Given the description of an element on the screen output the (x, y) to click on. 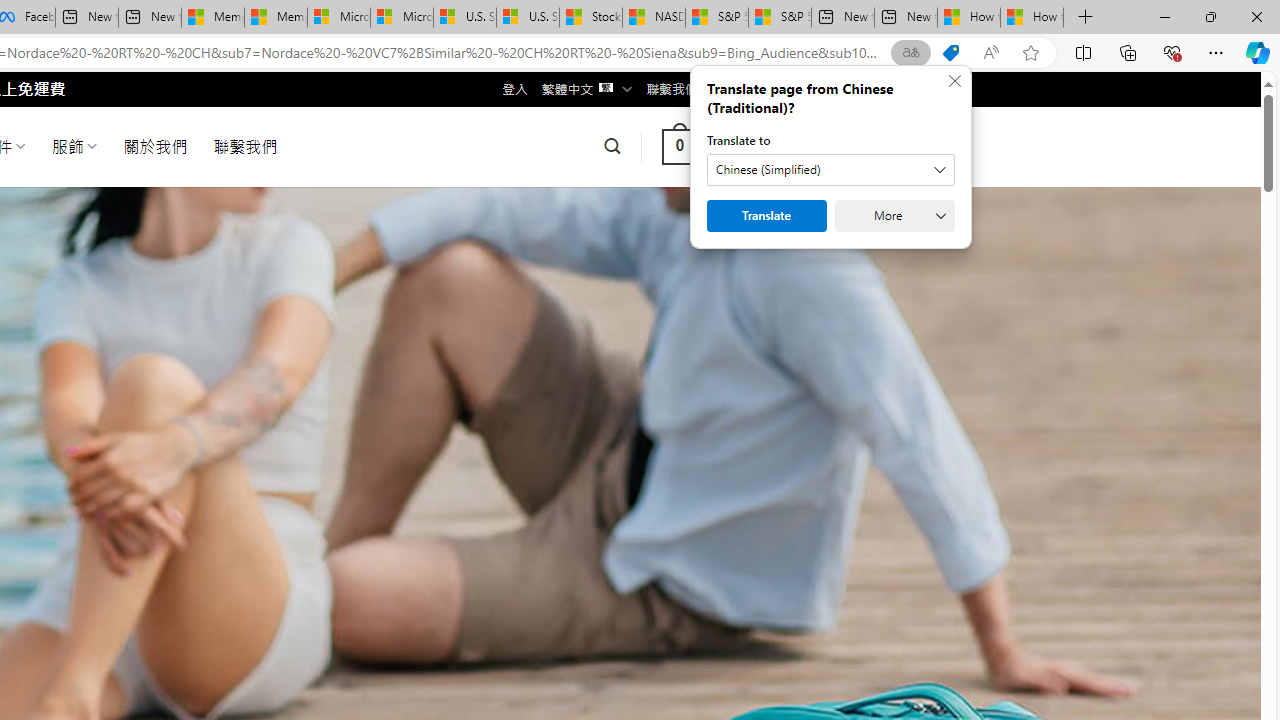
Read aloud this page (Ctrl+Shift+U) (991, 53)
New tab (905, 17)
More (894, 215)
This site has coupons! Shopping in Microsoft Edge (950, 53)
Split screen (1083, 52)
S&P 500, Nasdaq end lower, weighed by Nvidia dip | Watch (779, 17)
Translate to (830, 169)
